Given the description of an element on the screen output the (x, y) to click on. 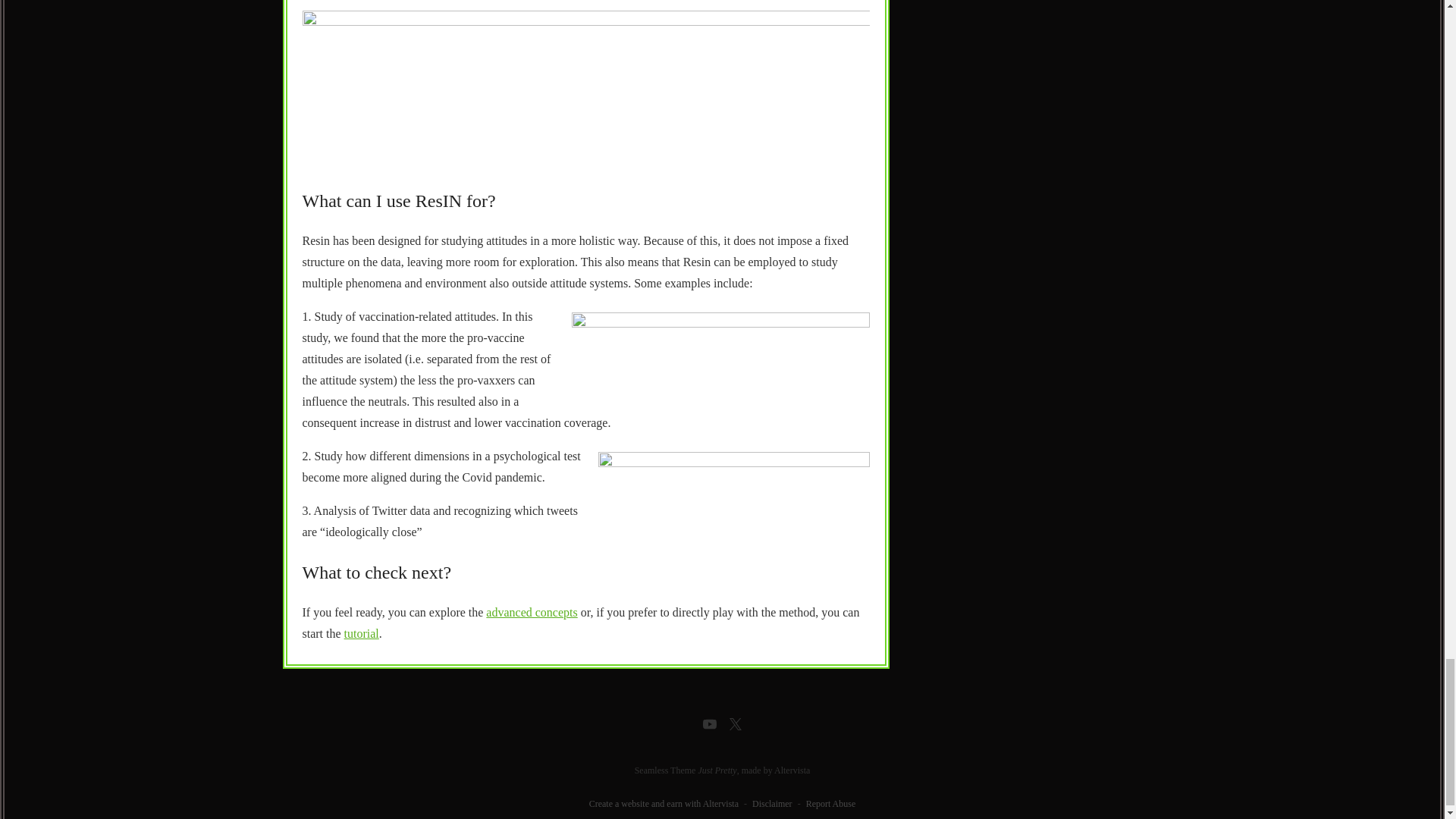
Youtube (708, 723)
advanced concepts (531, 612)
Create a website and earn with Altervista (663, 803)
Create a website for free and earn from it (663, 803)
tutorial (360, 633)
Twitter (734, 723)
